Given the description of an element on the screen output the (x, y) to click on. 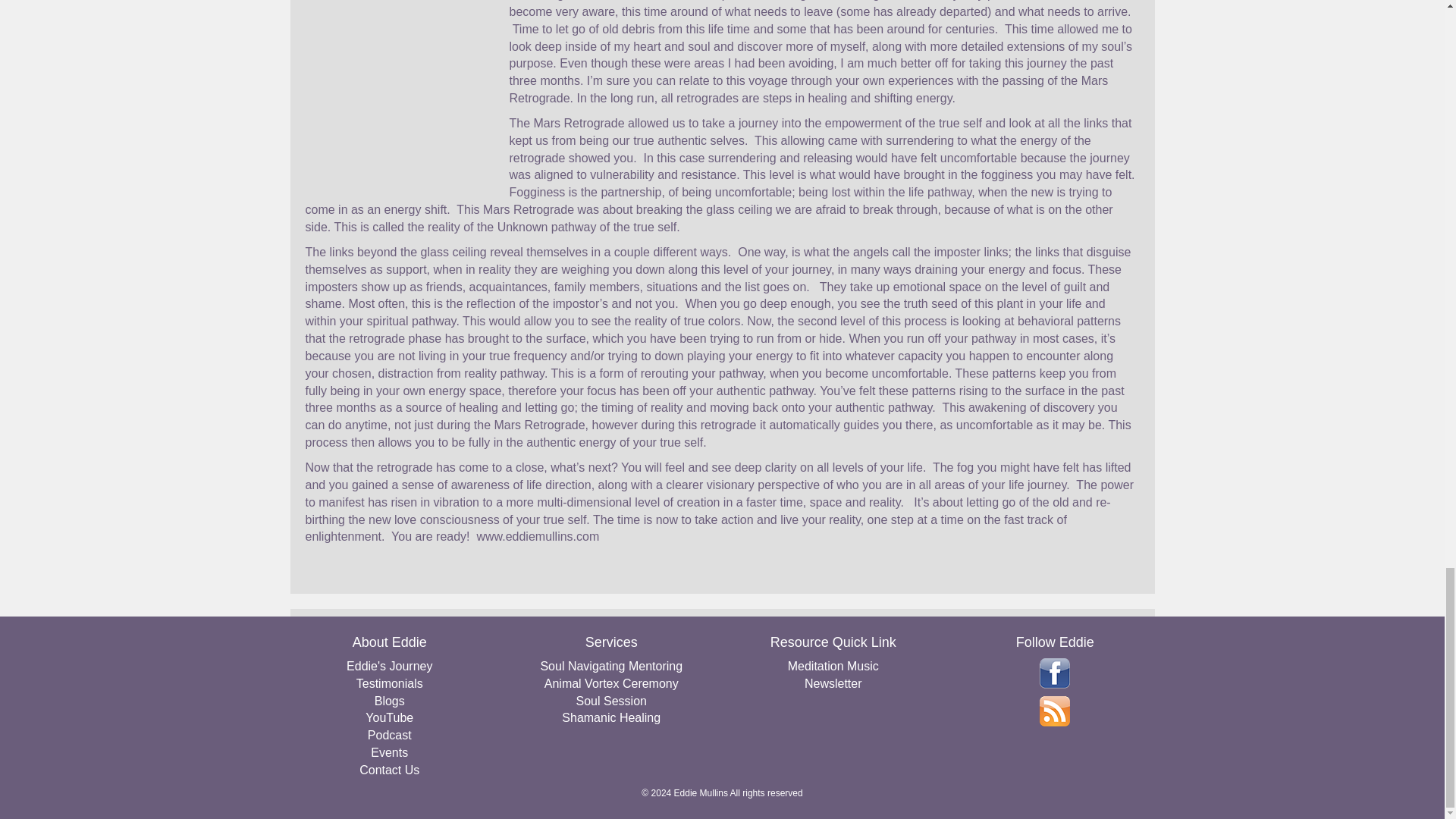
Animal Vortex Ceremony (611, 683)
Newsletter (833, 683)
Meditation Music (833, 666)
www.eddiemullins.com (537, 535)
Shamanic Healing (611, 718)
Soul Navigating Mentoring (611, 666)
YouTube (389, 718)
Link to Facebook (1054, 673)
Soul Session (611, 701)
Events (389, 753)
